Given the description of an element on the screen output the (x, y) to click on. 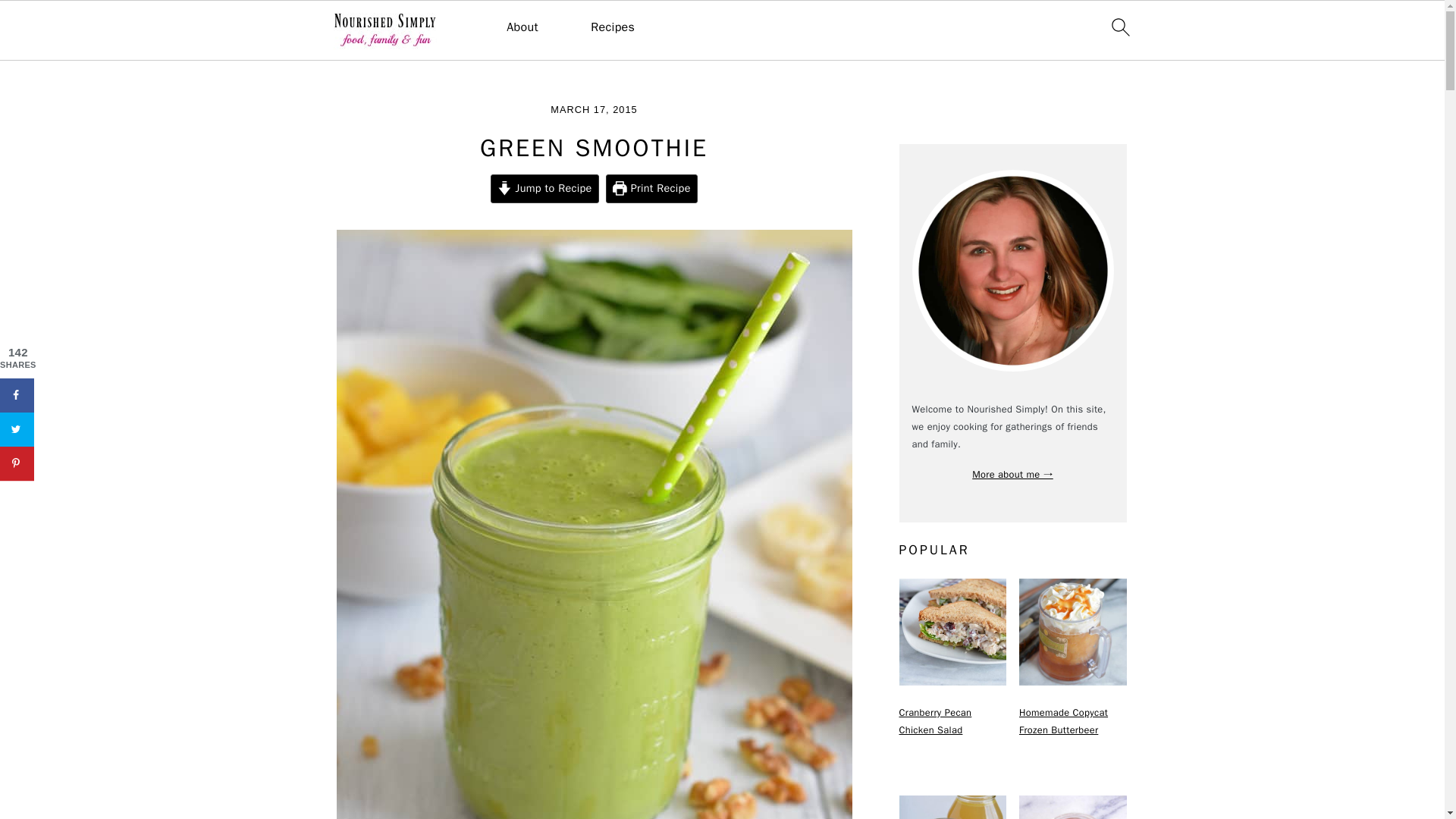
Recipes (612, 27)
Save to Pinterest (16, 463)
Share on Facebook (16, 395)
Share on Twitter (16, 429)
About (522, 27)
Print Recipe (651, 188)
search icon (1119, 26)
Jump to Recipe (544, 188)
